Given the description of an element on the screen output the (x, y) to click on. 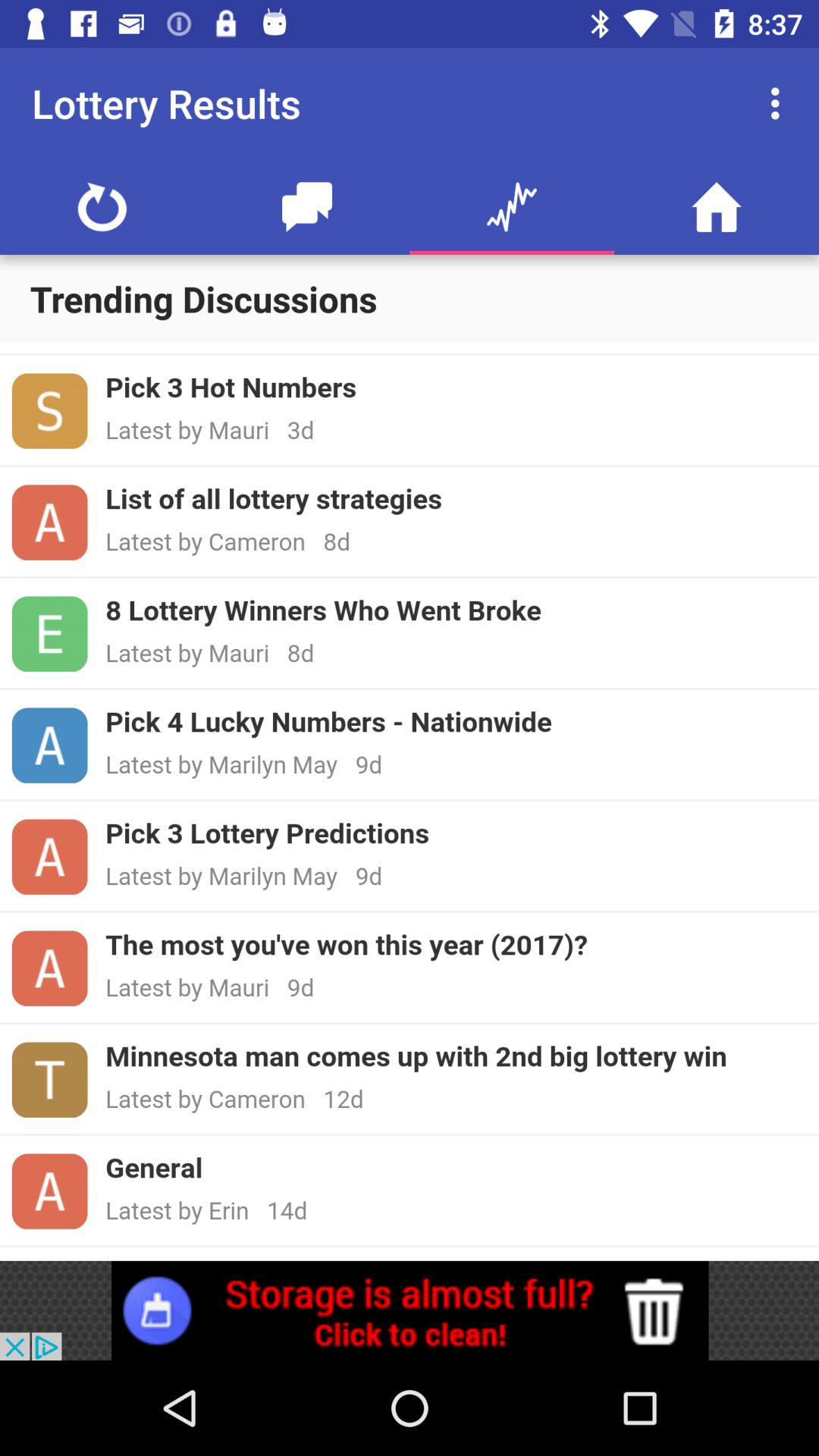
trending discussions links (409, 801)
